Given the description of an element on the screen output the (x, y) to click on. 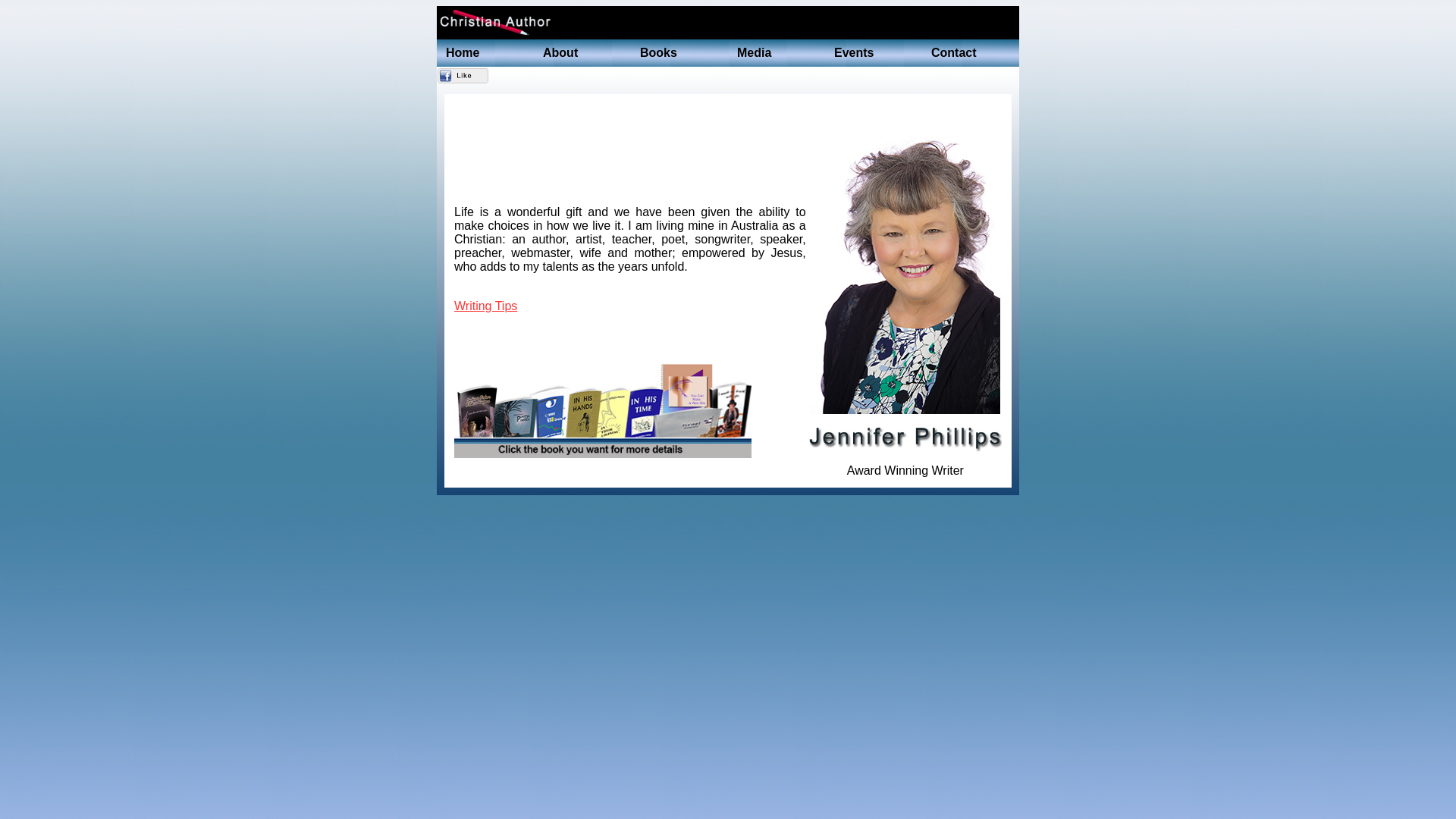
Twitter Follow Button Element type: hover (537, 75)
Writing Tips Element type: text (485, 305)
Advertisement Element type: hover (763, 77)
Contact Element type: text (970, 52)
About Element type: text (581, 52)
Home Element type: text (484, 52)
Media Element type: text (776, 52)
Events Element type: text (873, 52)
Books Element type: text (679, 52)
